Given the description of an element on the screen output the (x, y) to click on. 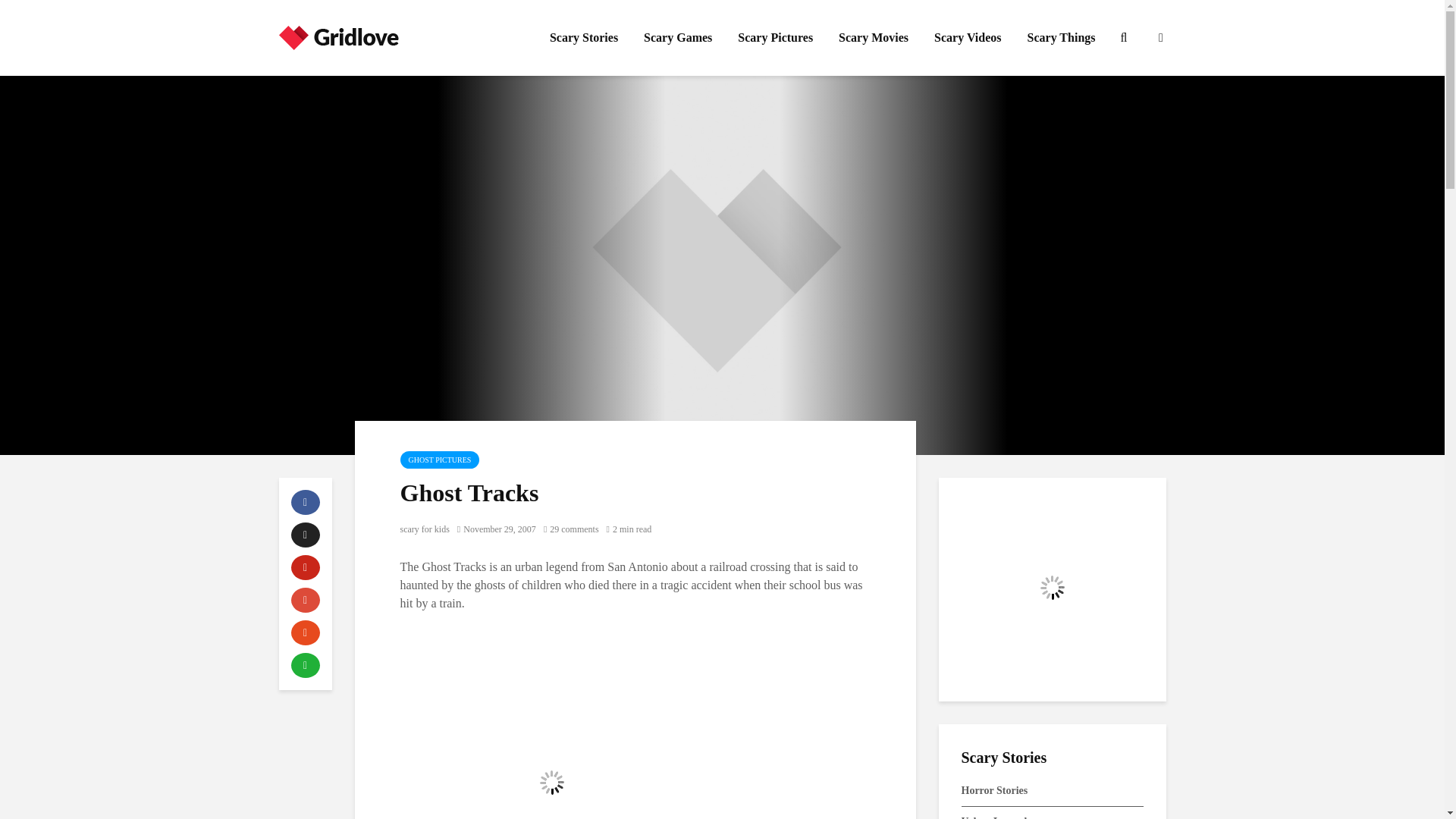
GHOST PICTURES (440, 459)
Scary Videos (967, 37)
Halloween Stories (1051, 587)
Scary Movies (873, 37)
Scary Pictures (775, 37)
Ghost Tracks (551, 724)
Scary Things (1061, 37)
29 comments (570, 529)
Scary Games (677, 37)
Scary Stories (583, 37)
scary for kids (424, 529)
